Given the description of an element on the screen output the (x, y) to click on. 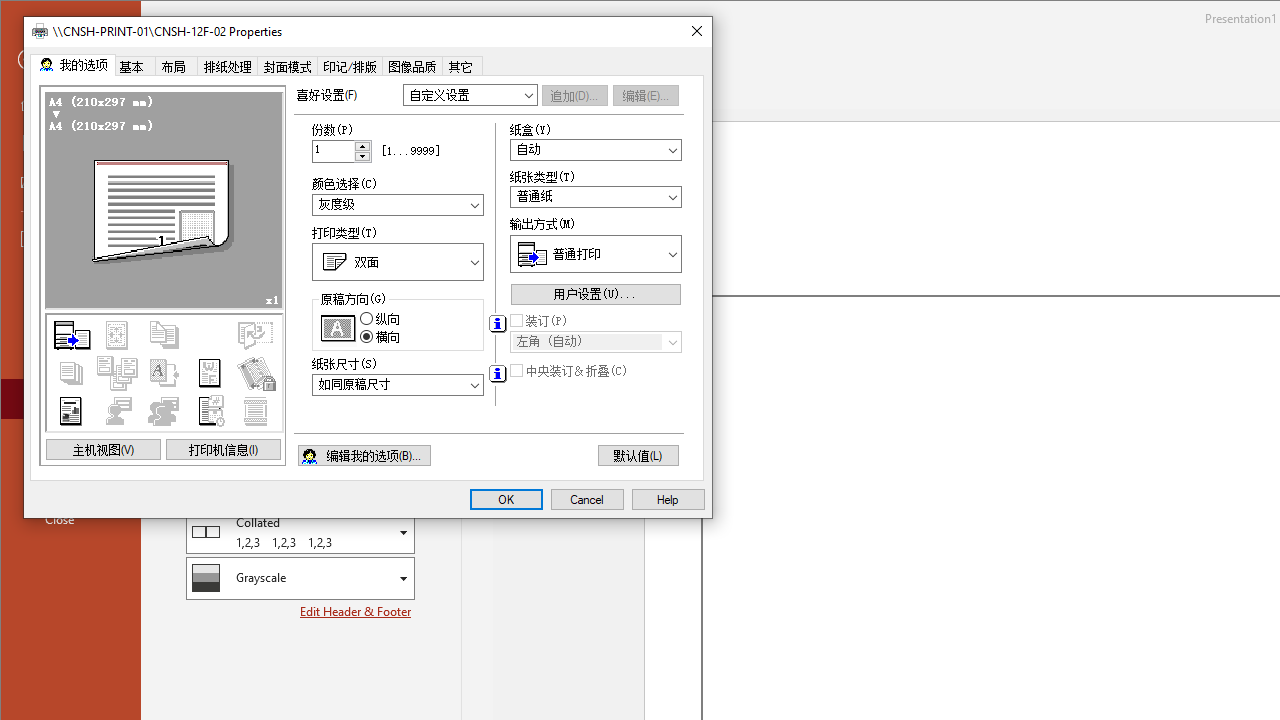
AutomationID: 1199 (162, 275)
Summary (164, 372)
